Given the description of an element on the screen output the (x, y) to click on. 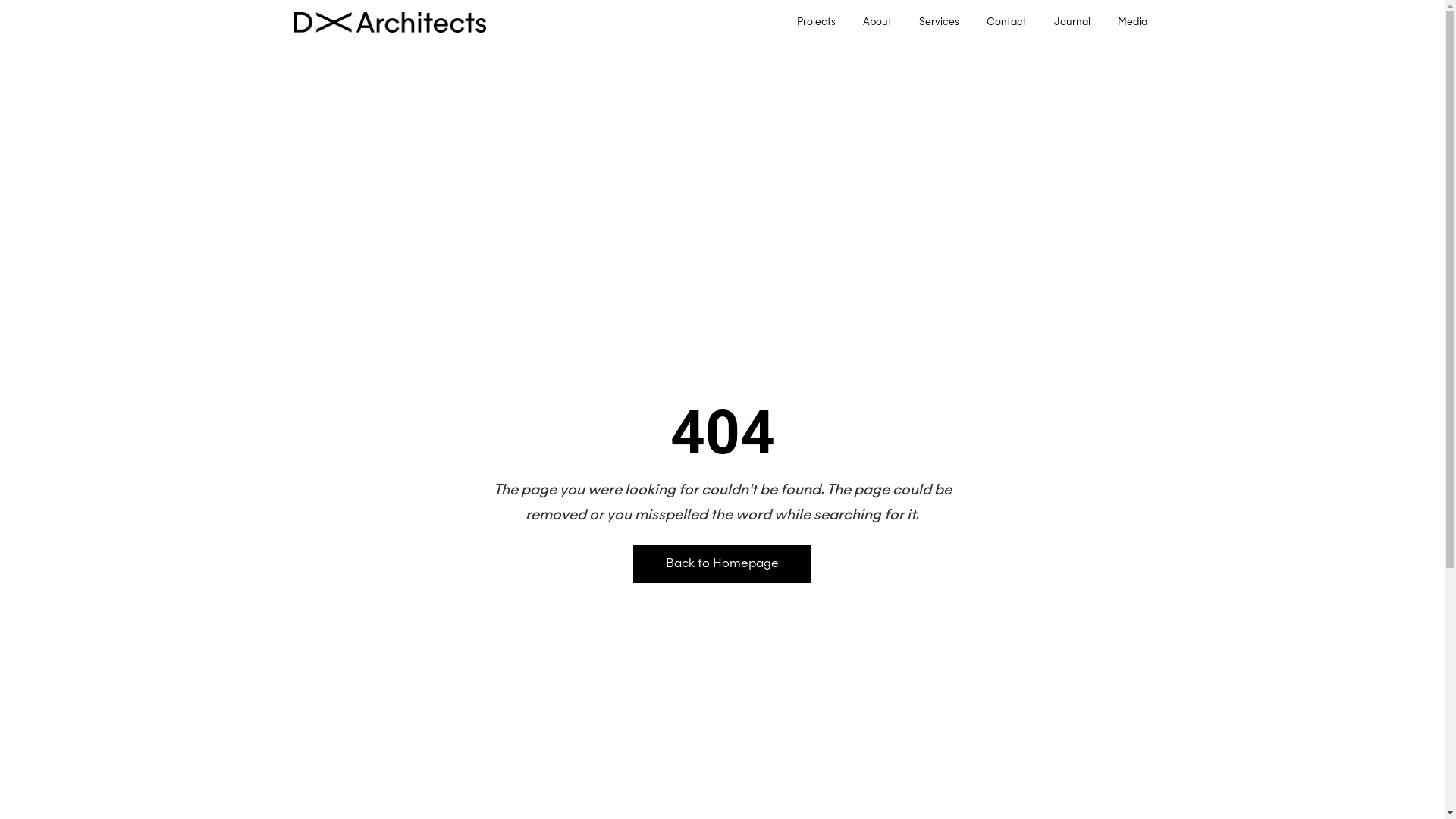
Back to Homepage Element type: text (722, 564)
Services Element type: text (939, 22)
Contact Element type: text (1006, 22)
About Element type: text (876, 22)
Journal Element type: text (1072, 22)
Projects Element type: text (816, 22)
Media Element type: text (1132, 22)
